Given the description of an element on the screen output the (x, y) to click on. 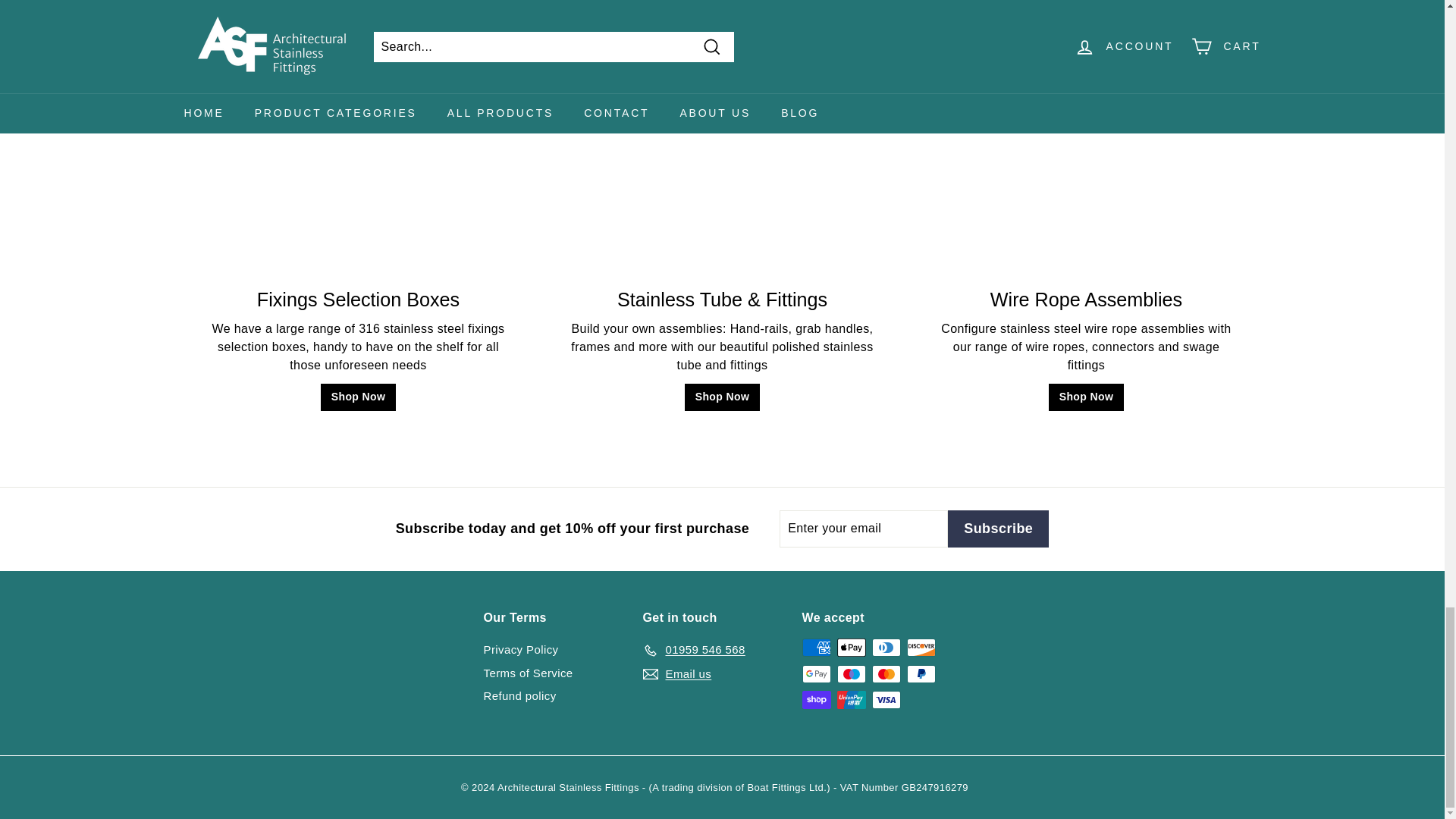
Mastercard (886, 674)
Apple Pay (851, 647)
Discover (921, 647)
PayPal (921, 674)
Diners Club (886, 647)
Maestro (851, 674)
American Express (816, 647)
Google Pay (816, 674)
